Given the description of an element on the screen output the (x, y) to click on. 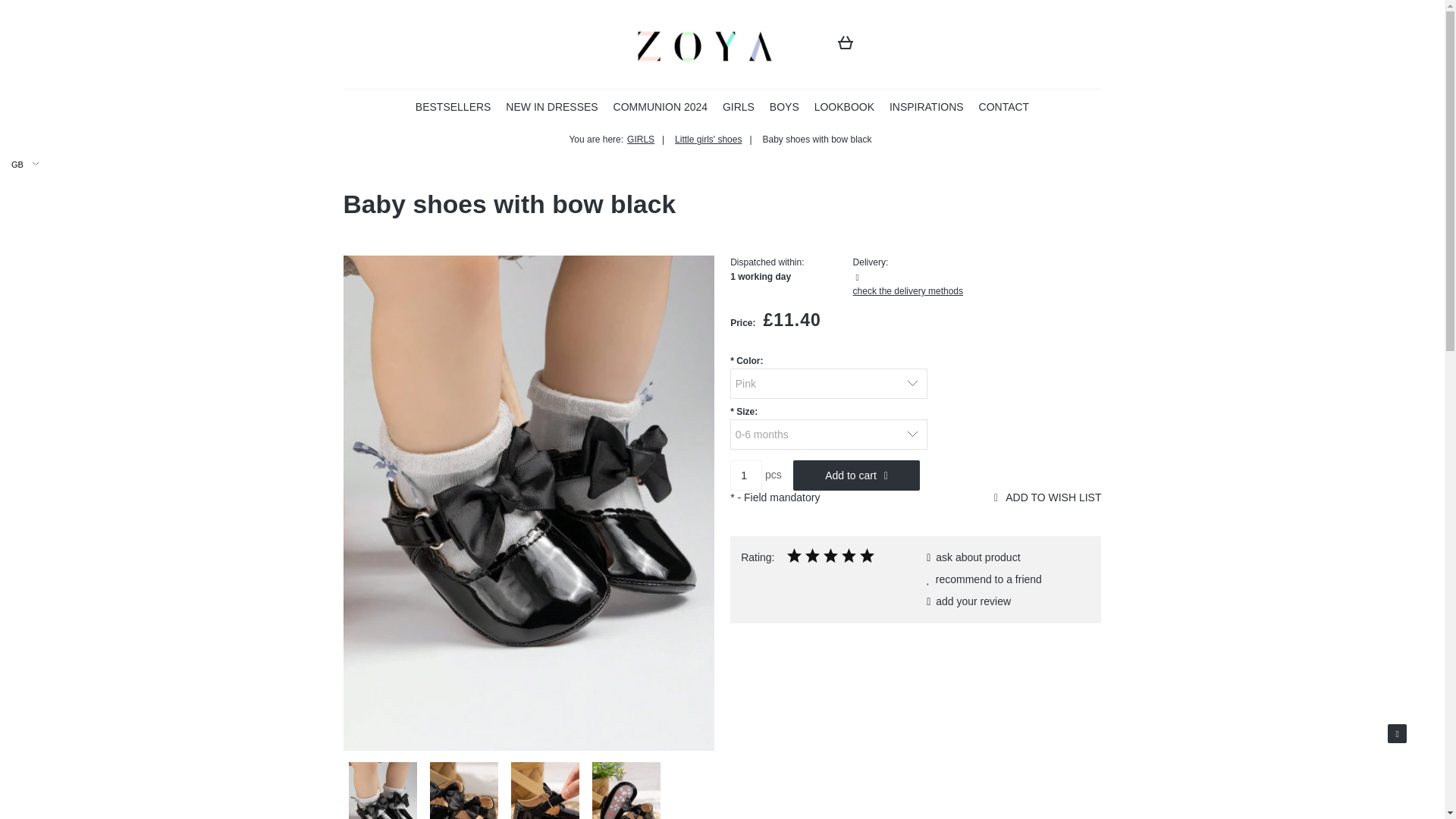
GIRLS (738, 106)
NEW IN DRESSES (551, 106)
GIRLS (645, 139)
BESTSELLERS (453, 106)
Home page (703, 43)
Cart (848, 48)
CONTACT (1003, 106)
COMMUNION 2024 (660, 106)
BOYS (783, 106)
GIRLS (738, 106)
